Given the description of an element on the screen output the (x, y) to click on. 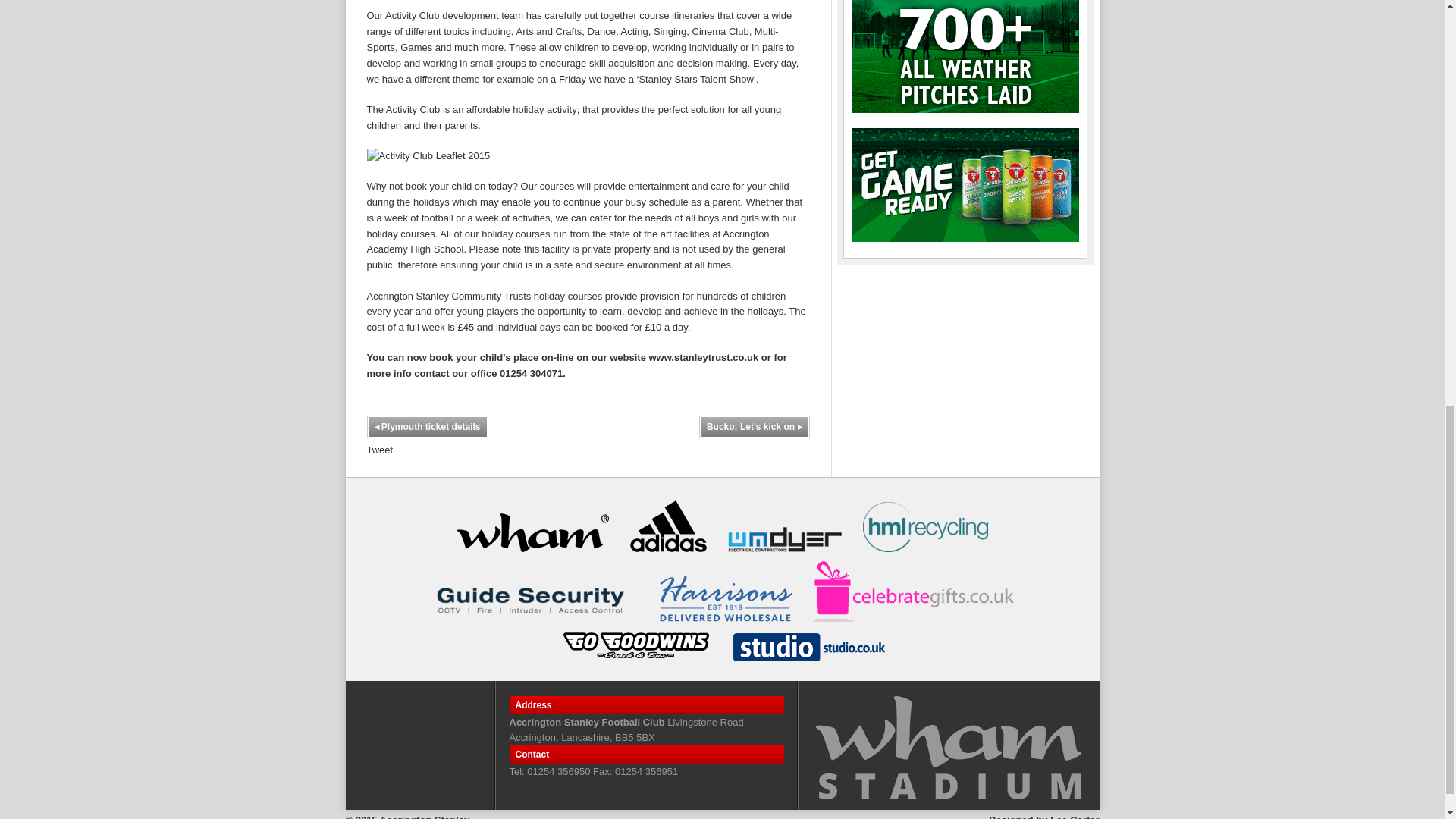
Go Goodwins (635, 644)
HML (925, 527)
Wham (532, 529)
Harrisons (725, 597)
Studio (807, 646)
Guide Security (532, 600)
Adidas (667, 526)
Celebrate Gifts (915, 590)
WM Dyer (784, 538)
